Given the description of an element on the screen output the (x, y) to click on. 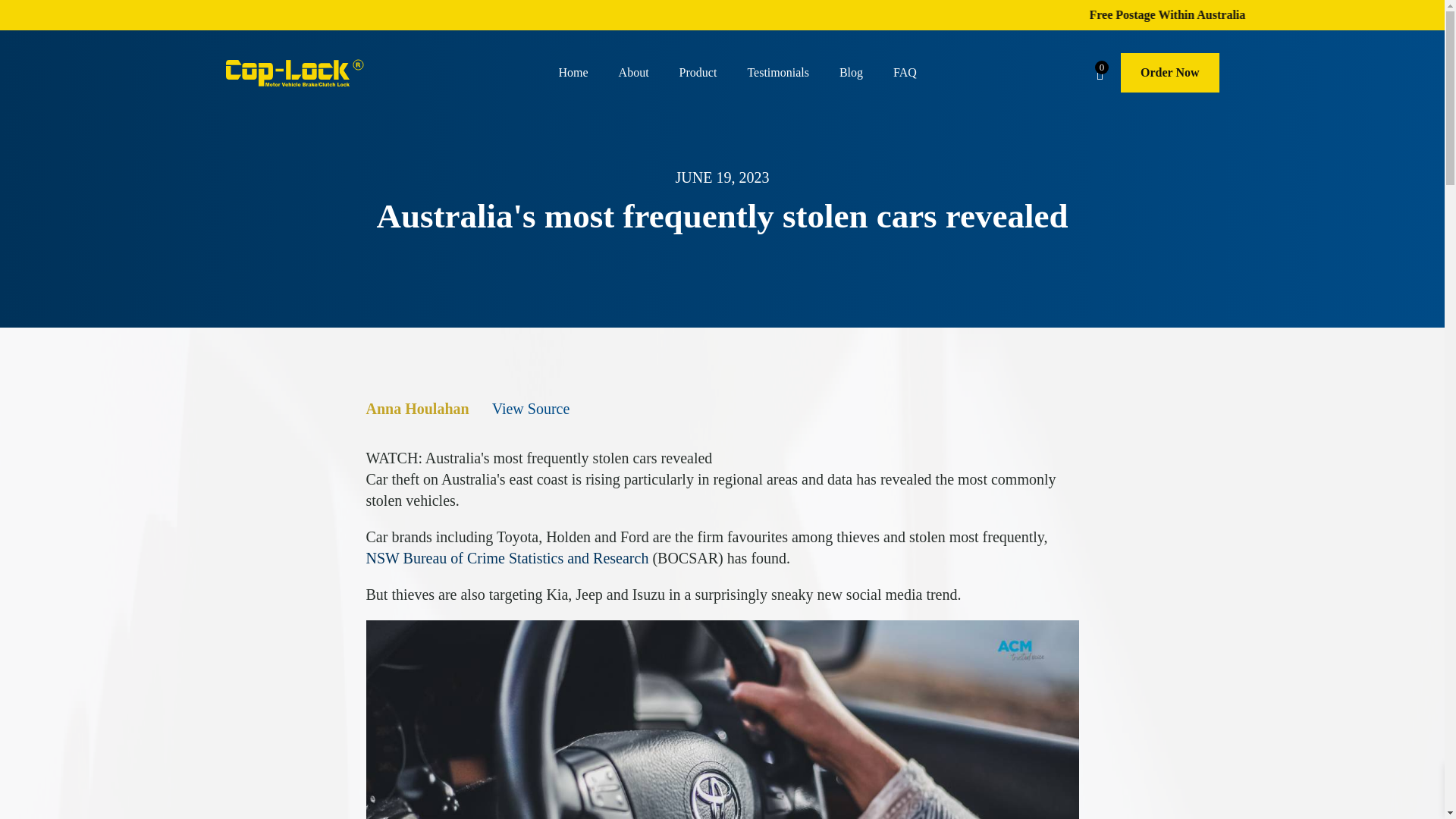
View Source (531, 408)
FAQ (904, 72)
Testimonials (778, 72)
About (633, 72)
Home (572, 72)
Product (697, 72)
NSW Bureau of Crime Statistics and Research (506, 557)
Blog (850, 72)
Order Now (1169, 72)
